Given the description of an element on the screen output the (x, y) to click on. 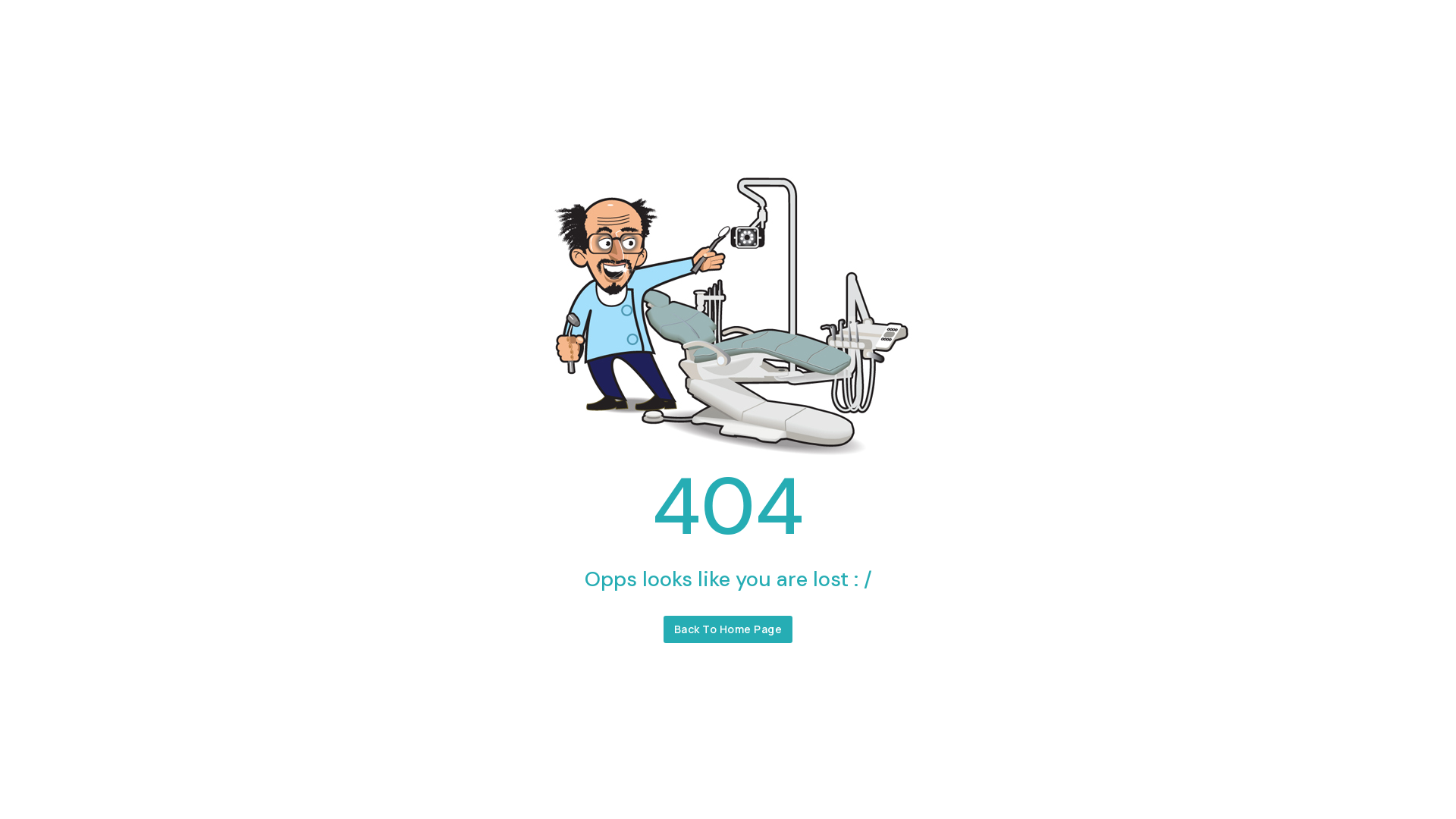
Back To Home Page Element type: text (728, 629)
